Given the description of an element on the screen output the (x, y) to click on. 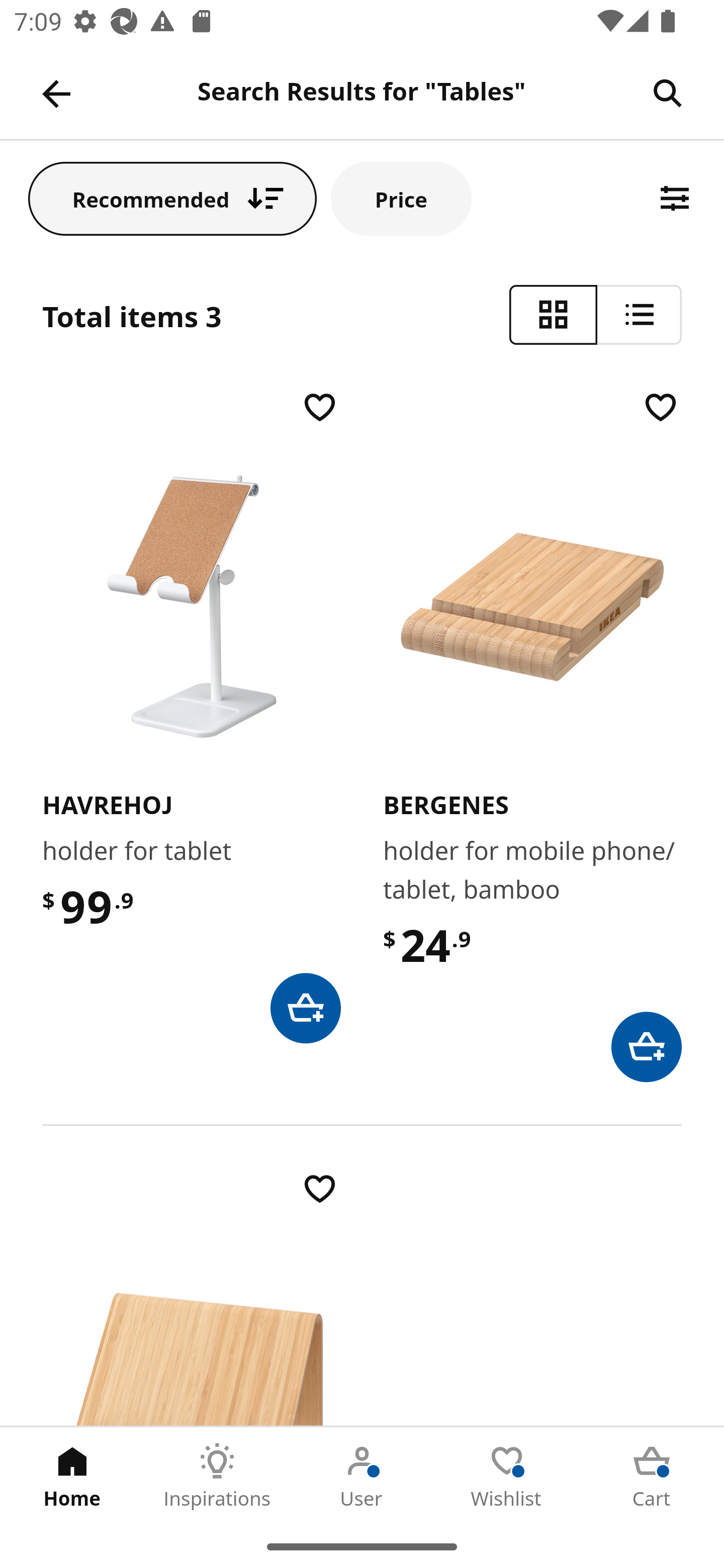
Recommended (172, 198)
Price (400, 198)
​H​A​V​R​E​H​O​J​
holder for tablet
$
99
.9 (191, 714)
Home
Tab 1 of 5 (72, 1476)
Inspirations
Tab 2 of 5 (216, 1476)
User
Tab 3 of 5 (361, 1476)
Wishlist
Tab 4 of 5 (506, 1476)
Cart
Tab 5 of 5 (651, 1476)
